Given the description of an element on the screen output the (x, y) to click on. 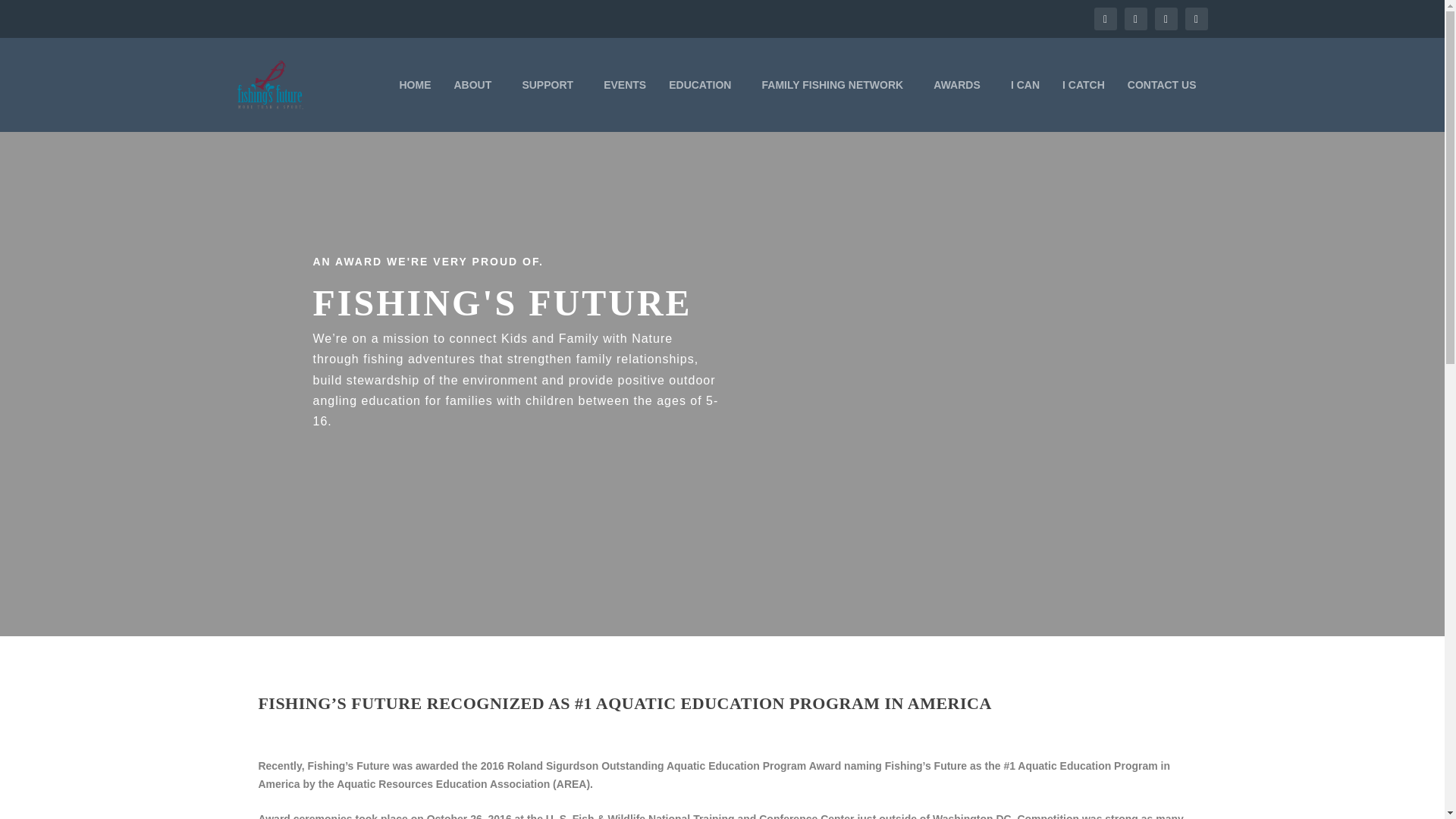
AWARDS (960, 104)
EDUCATION (703, 104)
CONTACT US (1161, 104)
SUPPORT (550, 104)
FAMILY FISHING NETWORK (836, 104)
